Given the description of an element on the screen output the (x, y) to click on. 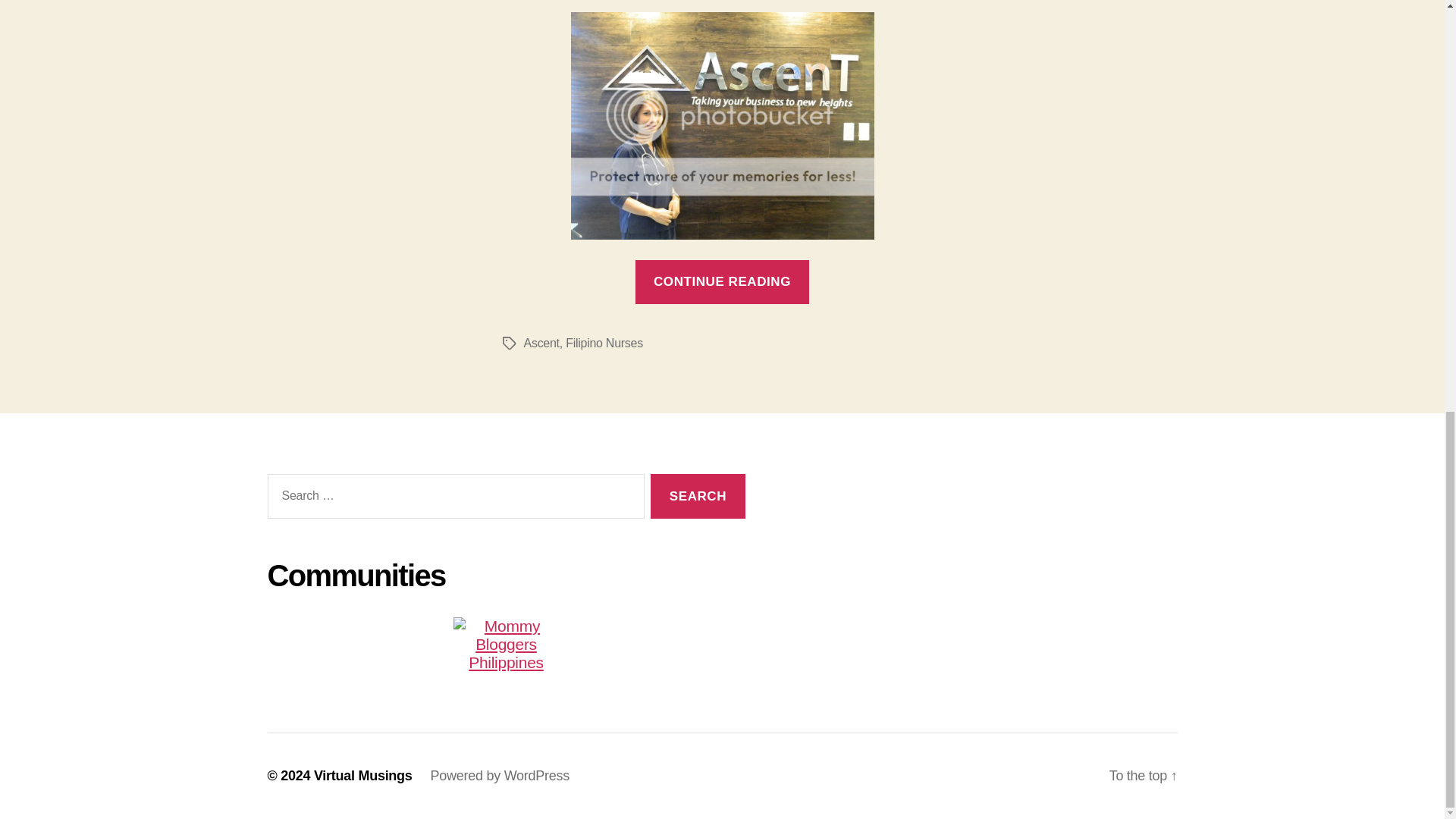
Mommy Bloggers Philippines (505, 644)
Search (697, 496)
Search (697, 496)
